Given the description of an element on the screen output the (x, y) to click on. 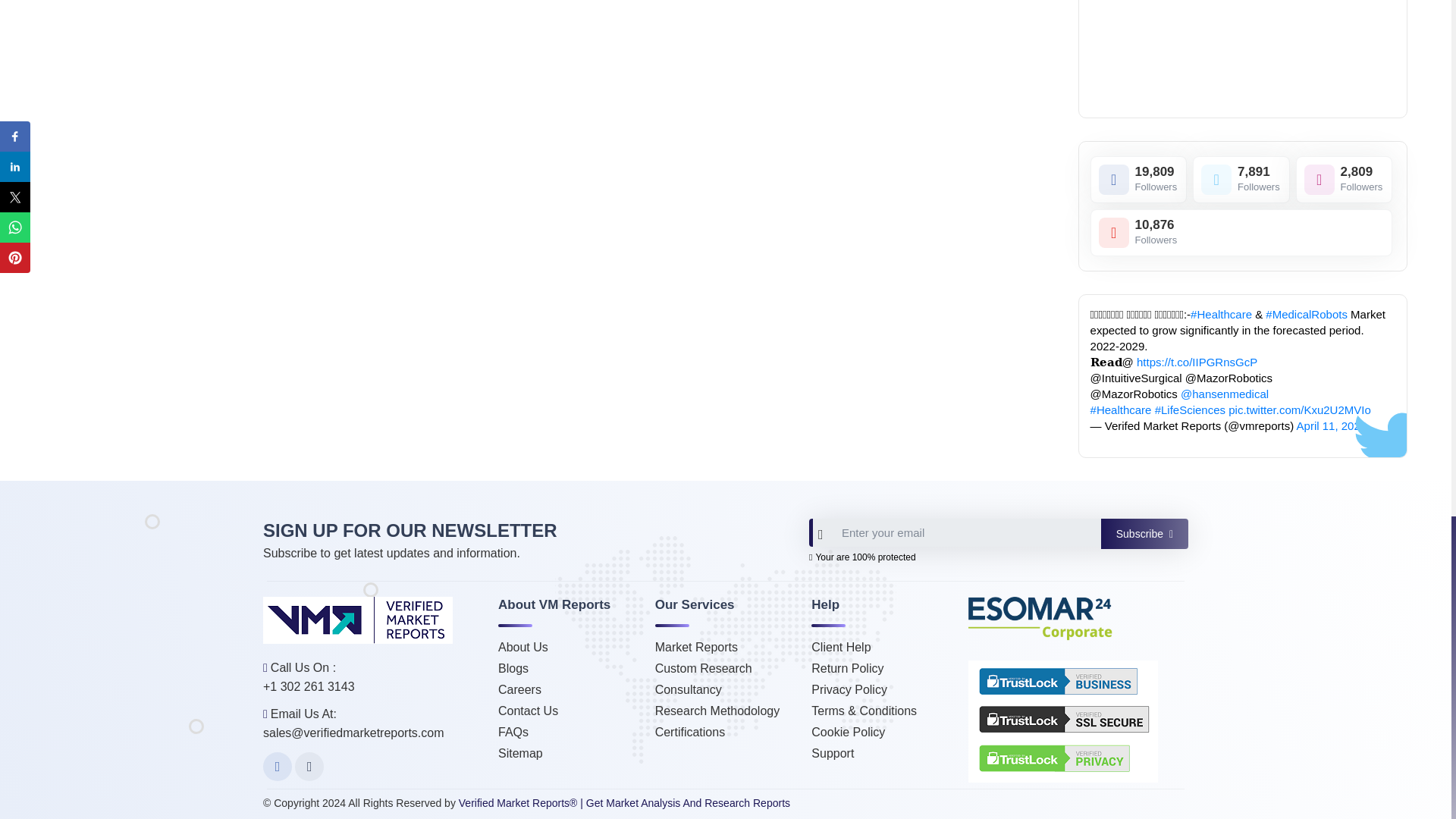
Facebook (277, 766)
Linkedin (1241, 232)
